Given the description of an element on the screen output the (x, y) to click on. 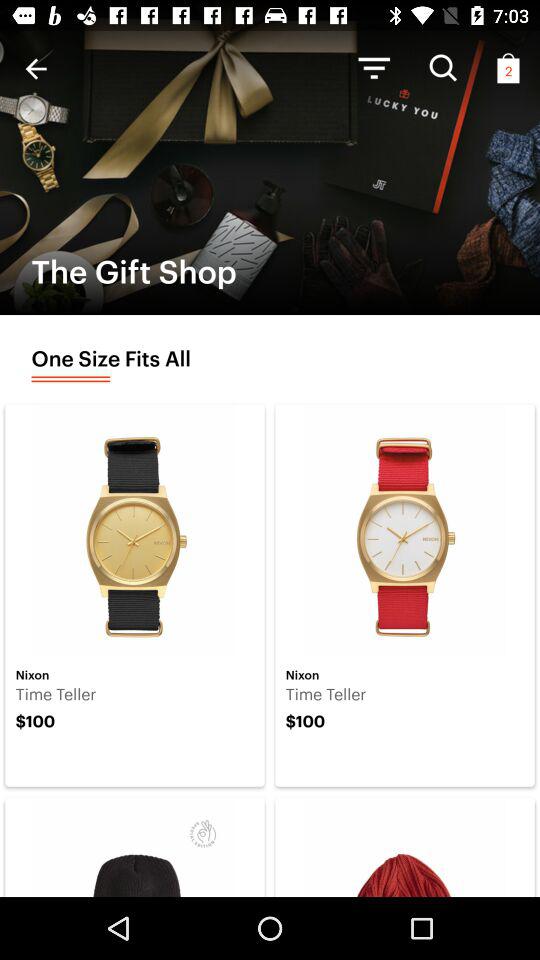
click on the first image in first row (135, 529)
